Given the description of an element on the screen output the (x, y) to click on. 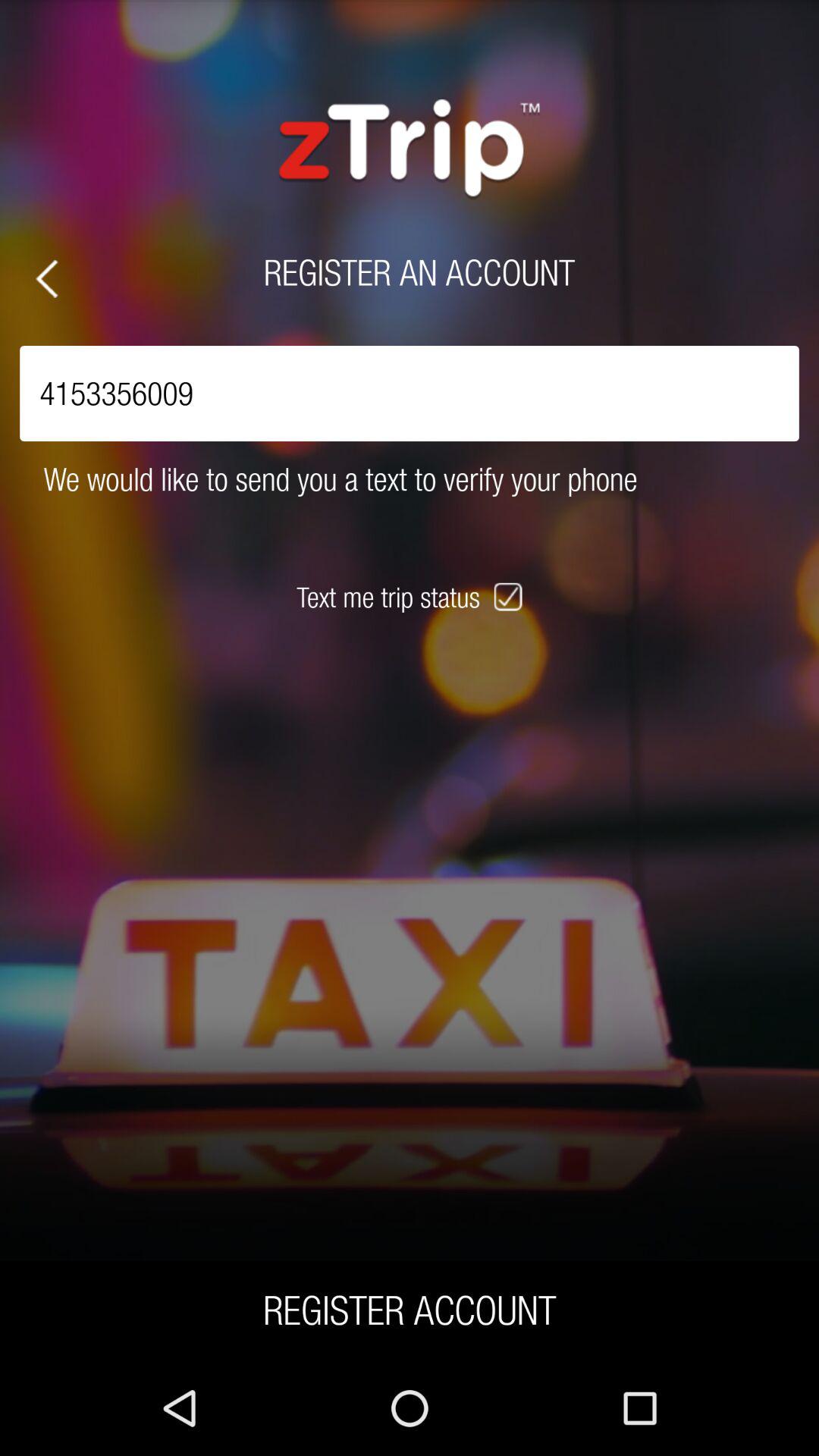
tap item next to the register an account item (46, 278)
